Given the description of an element on the screen output the (x, y) to click on. 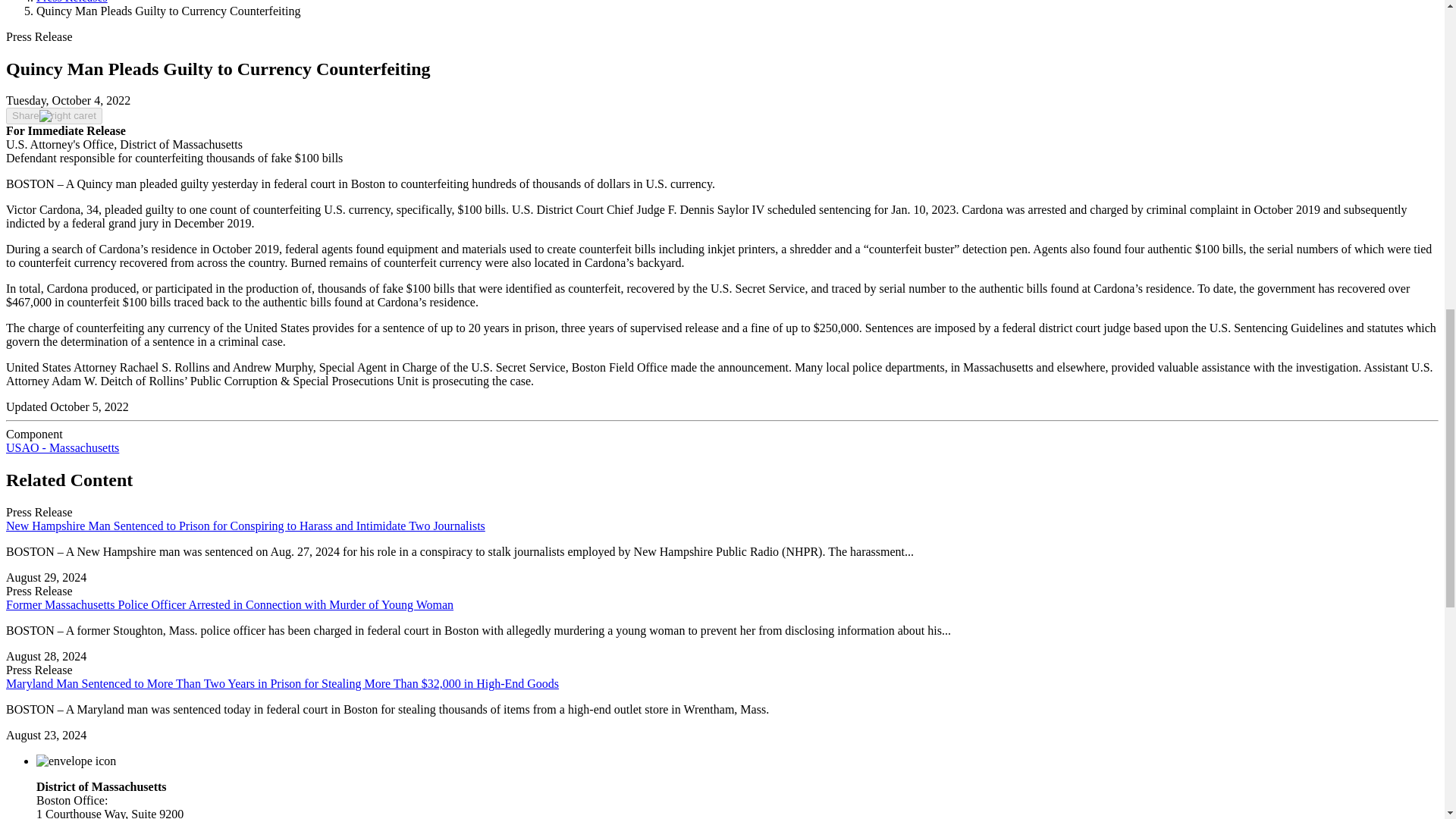
Share (53, 115)
Press Releases (71, 2)
USAO - Massachusetts (62, 447)
